Given the description of an element on the screen output the (x, y) to click on. 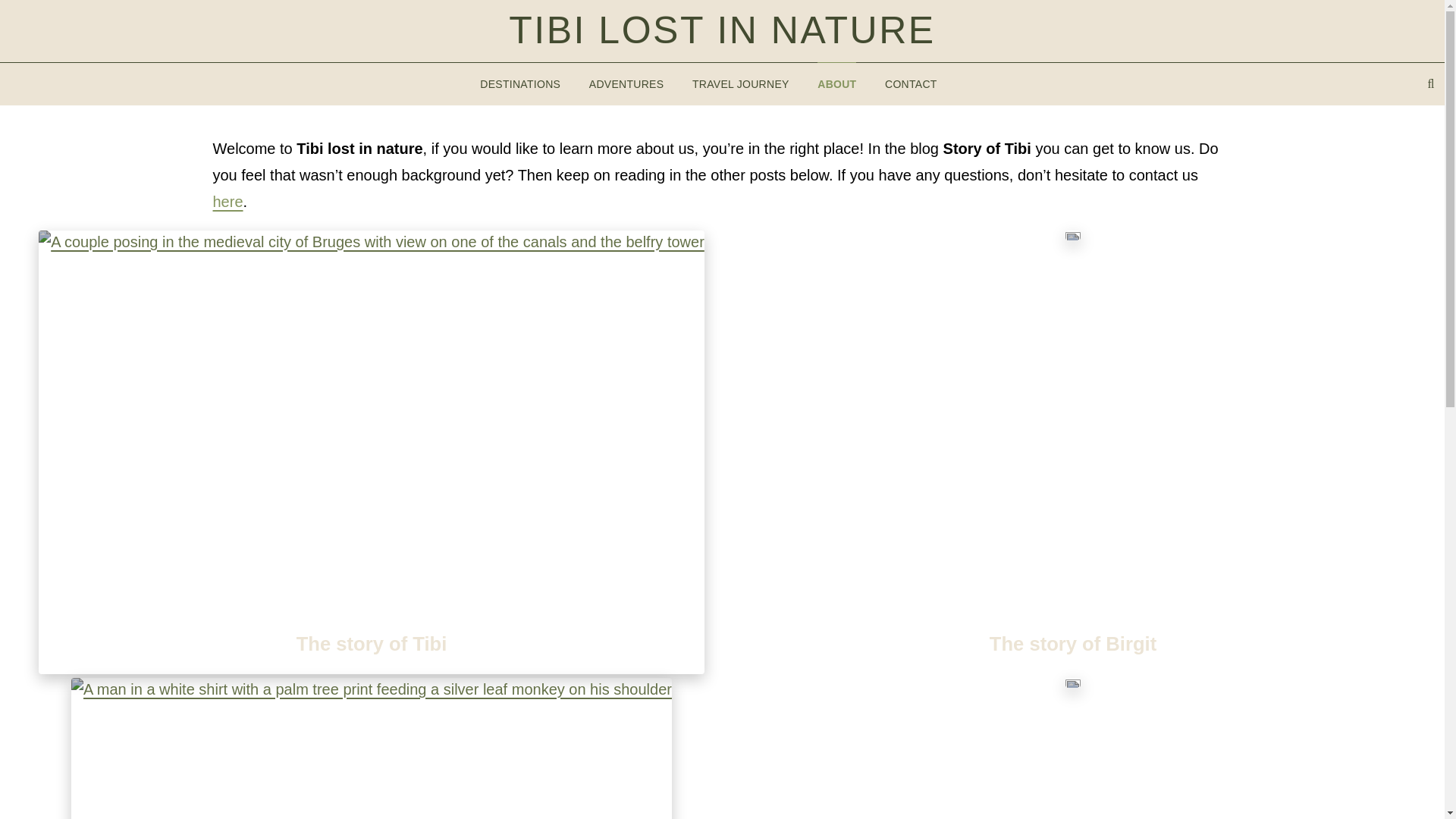
TIBI LOST IN NATURE (721, 30)
SEARCH (1430, 83)
TRAVEL JOURNEY (740, 83)
ABOUT (836, 83)
here (227, 200)
The story of Birgit (1073, 643)
DESTINATIONS (519, 83)
The story of Tibi (371, 643)
CONTACT (910, 83)
ADVENTURES (626, 83)
